Given the description of an element on the screen output the (x, y) to click on. 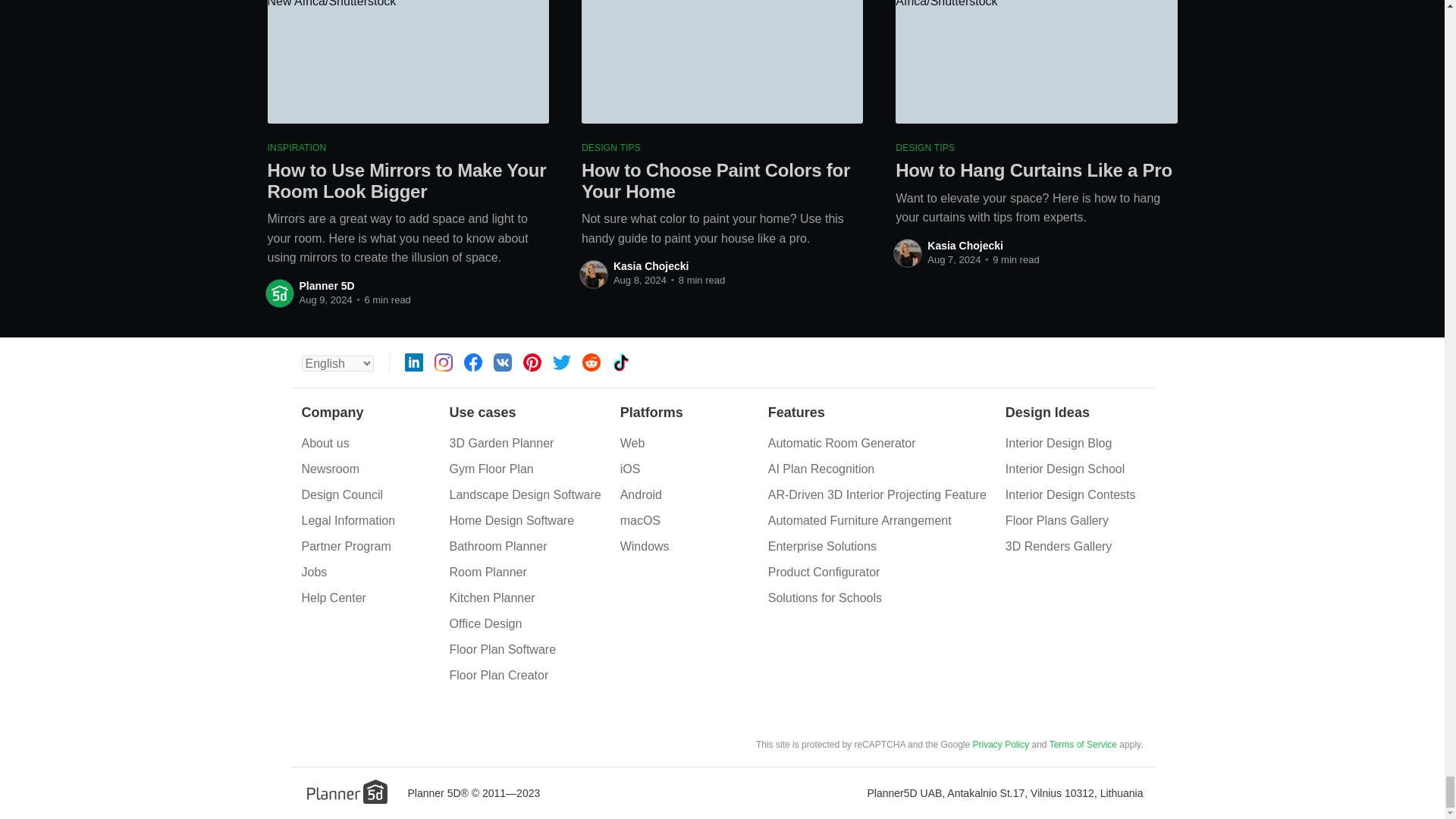
Planner 5D (325, 285)
Kasia Chojecki (650, 265)
